Given the description of an element on the screen output the (x, y) to click on. 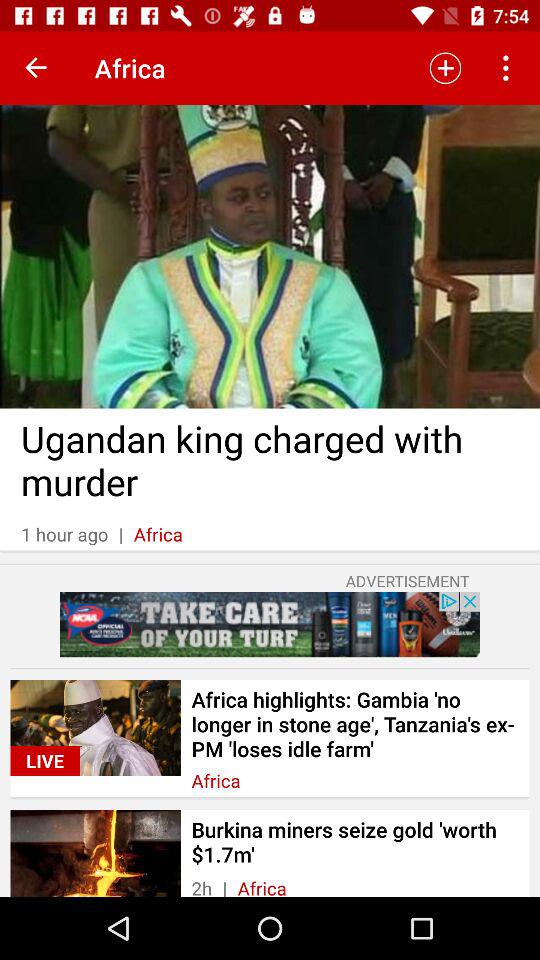
goto next page (36, 68)
